Given the description of an element on the screen output the (x, y) to click on. 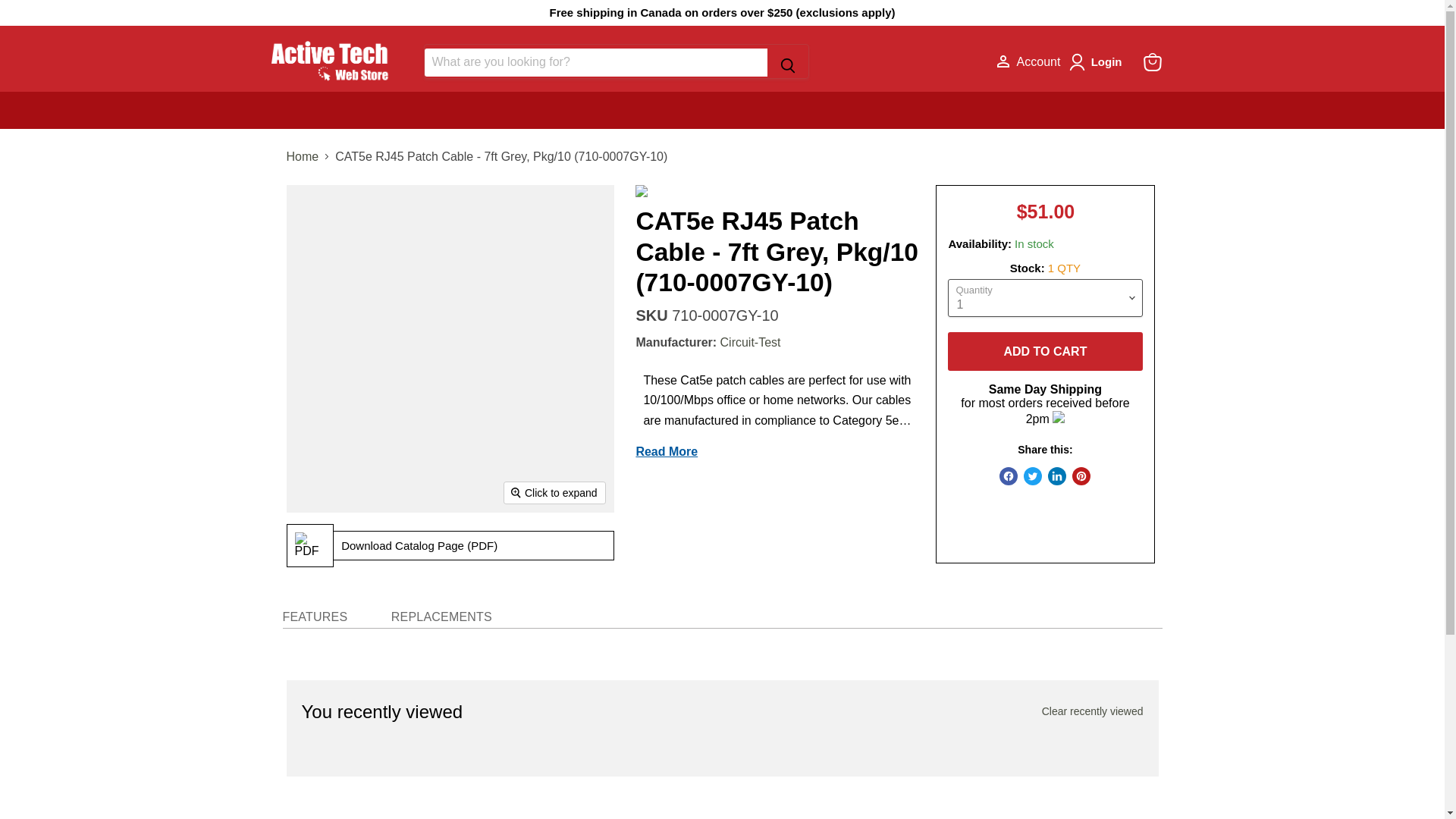
View cart (1152, 61)
Account (1025, 61)
Share on LinkedIn (1056, 475)
Read More (665, 451)
Login (1097, 62)
Home (302, 156)
Share on Facebook (1007, 475)
Tweet on Twitter (1032, 475)
Circuit-Test (750, 341)
Clear recently viewed (1092, 711)
Click to expand (554, 492)
ADD TO CART (1044, 351)
Pin on Pinterest (1080, 475)
